Given the description of an element on the screen output the (x, y) to click on. 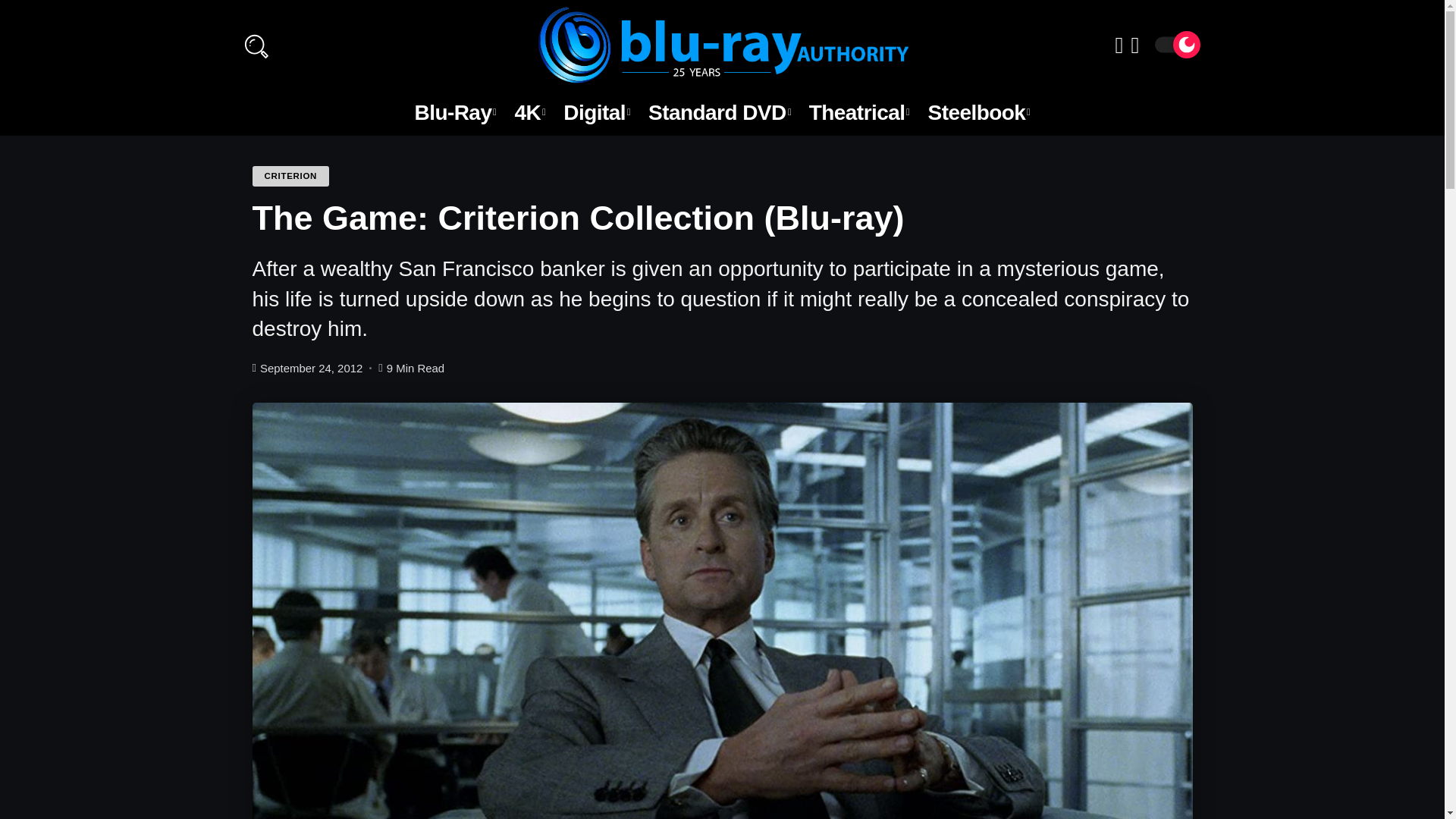
Blu-Ray (455, 112)
4K (529, 112)
Digital (596, 112)
